Given the description of an element on the screen output the (x, y) to click on. 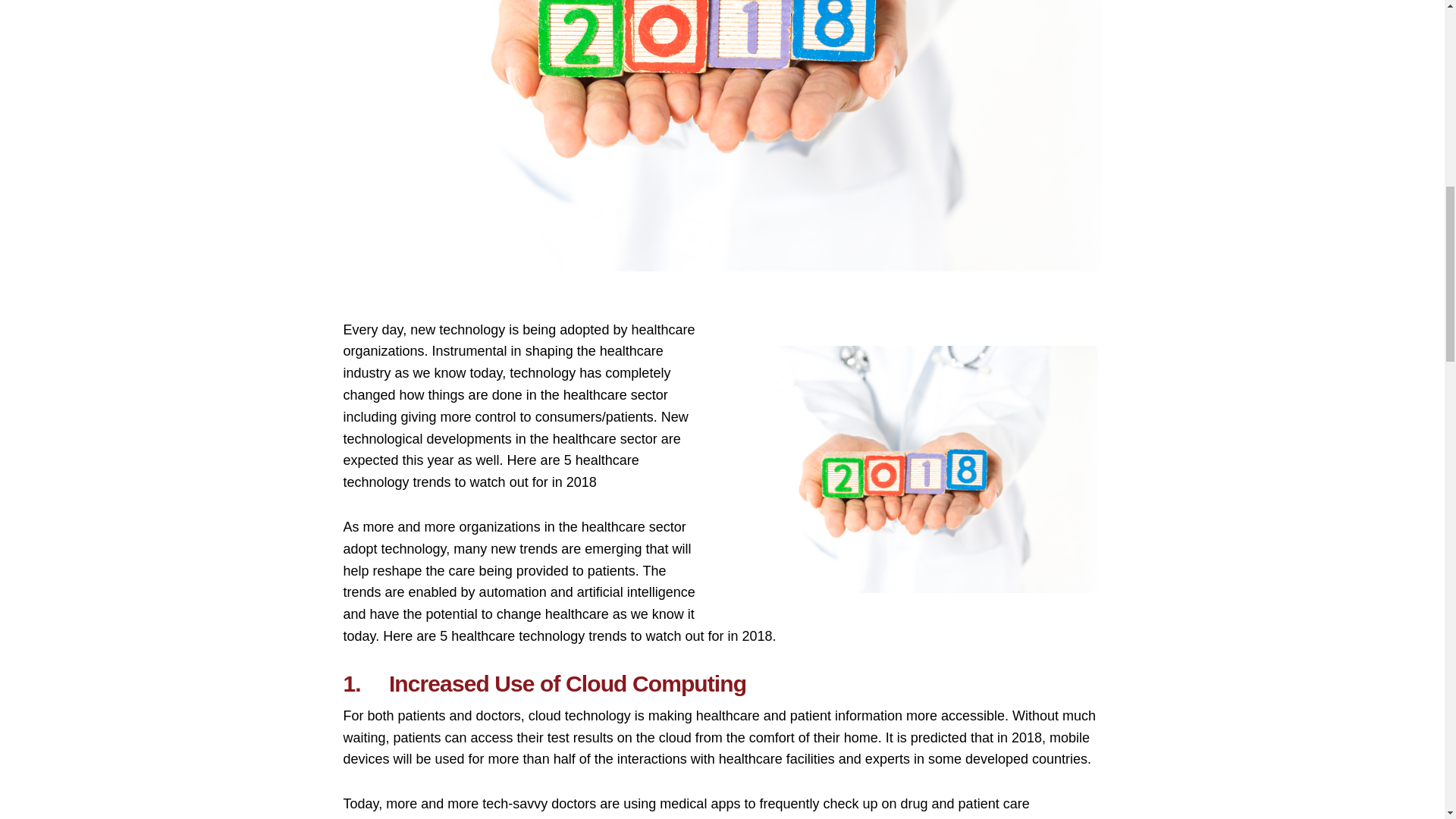
Healthcare Trends 2018 (911, 469)
